Given the description of an element on the screen output the (x, y) to click on. 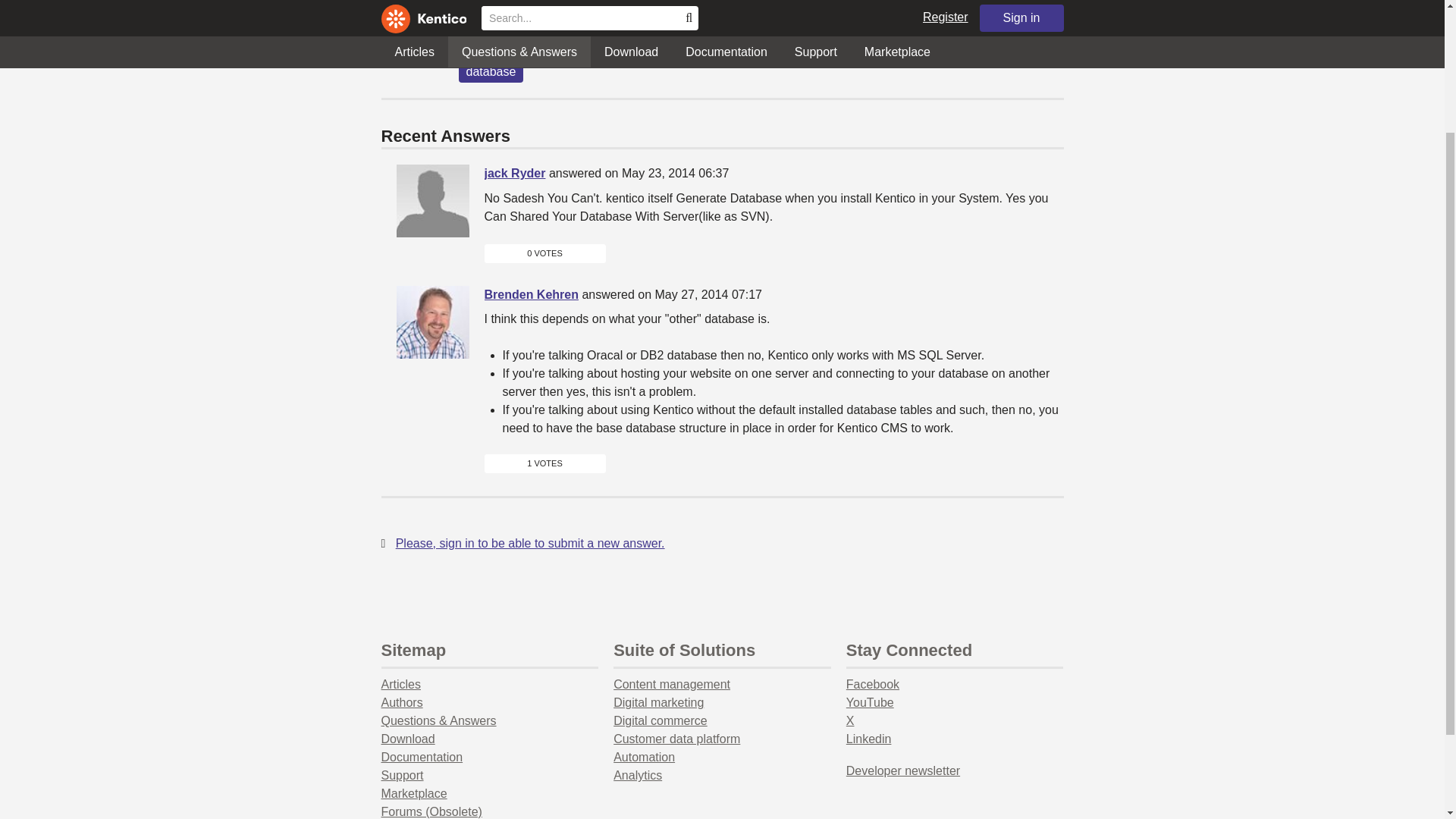
Analytics (637, 775)
Customer data platform (675, 738)
database (490, 71)
jack Ryder (513, 173)
Brenden Kehren (530, 294)
Developer newsletter (902, 770)
Documentation (421, 757)
Digital commerce (659, 720)
Content management (671, 684)
sadesh kumar (499, 9)
jack Ryder (432, 200)
Authors (401, 702)
Marketplace (413, 793)
Download (406, 738)
Please, sign in to be able to submit a new answer. (530, 542)
